Given the description of an element on the screen output the (x, y) to click on. 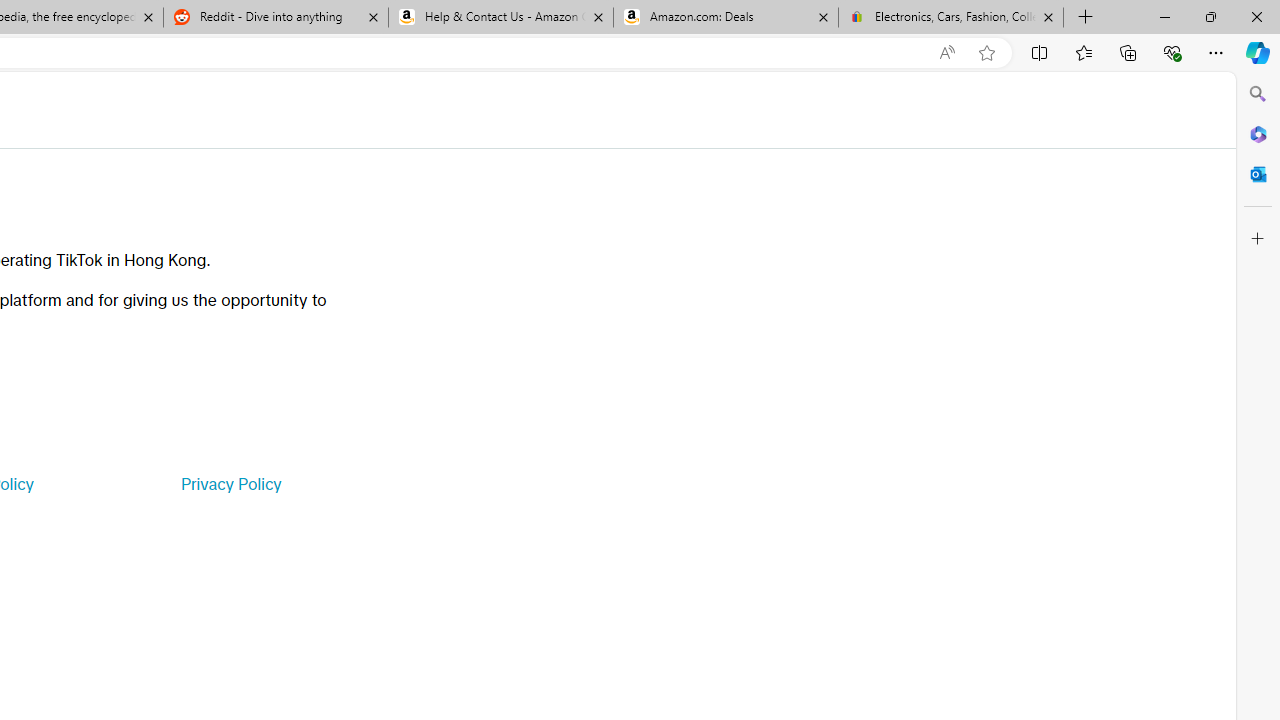
Privacy Policy (230, 484)
Electronics, Cars, Fashion, Collectibles & More | eBay (950, 17)
Reddit - Dive into anything (275, 17)
